Given the description of an element on the screen output the (x, y) to click on. 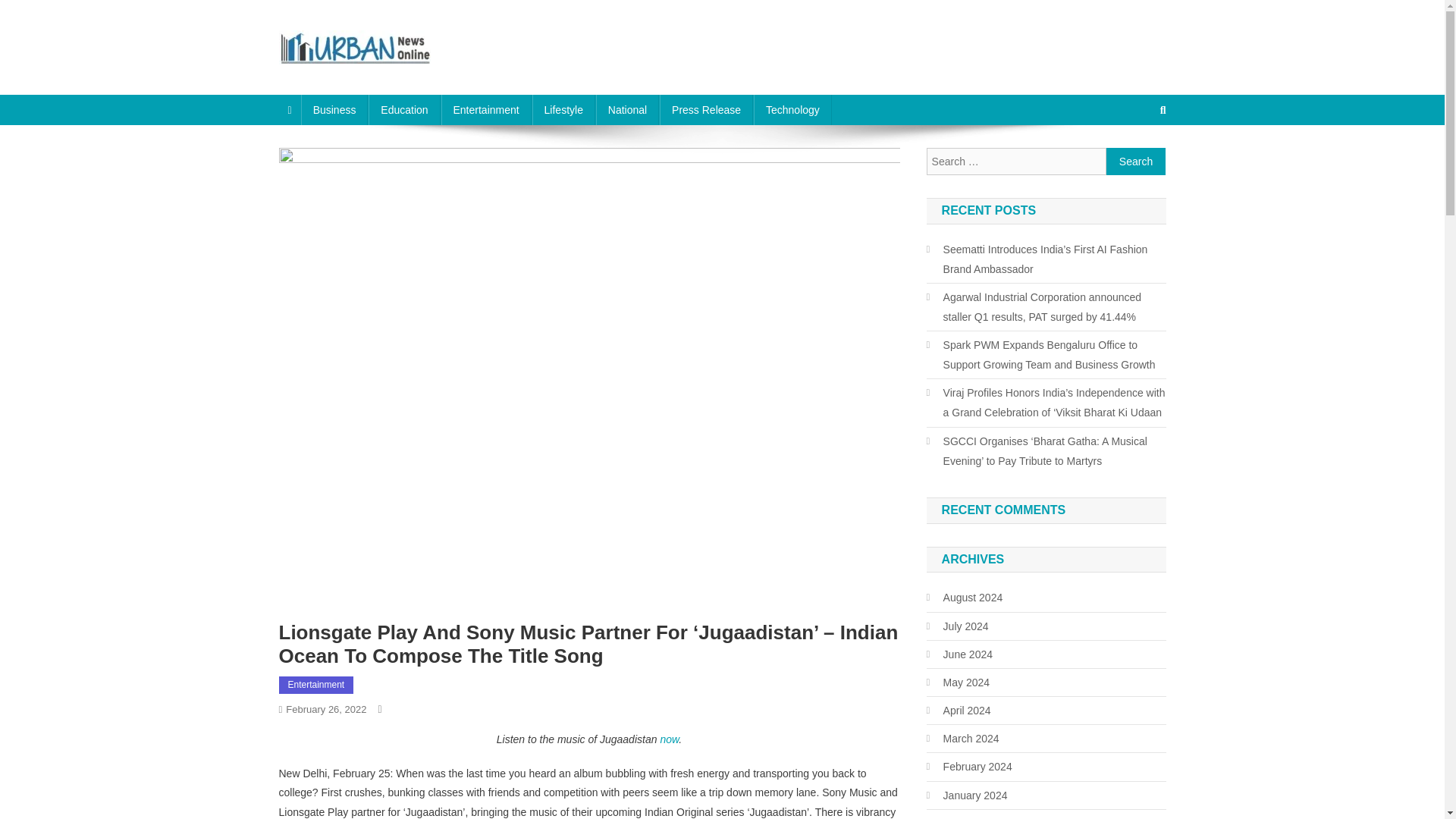
National (627, 110)
Entertainment (486, 110)
Education (403, 110)
Search (1133, 160)
Technology (792, 110)
Lifestyle (563, 110)
Urban News Online (389, 79)
February 26, 2022 (325, 708)
Press Release (705, 110)
Entertainment (316, 685)
